Given the description of an element on the screen output the (x, y) to click on. 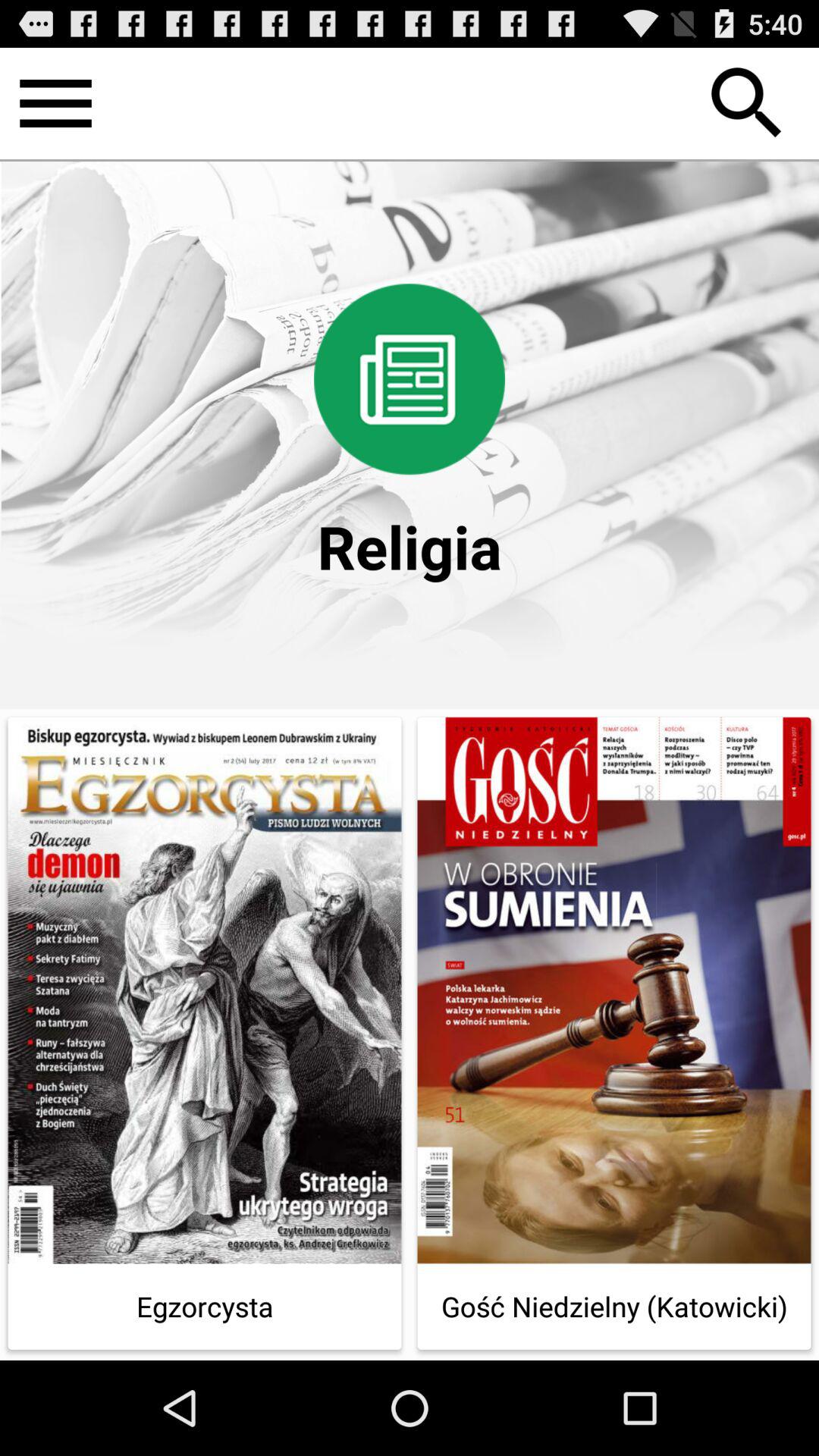
open the menu (55, 103)
